Given the description of an element on the screen output the (x, y) to click on. 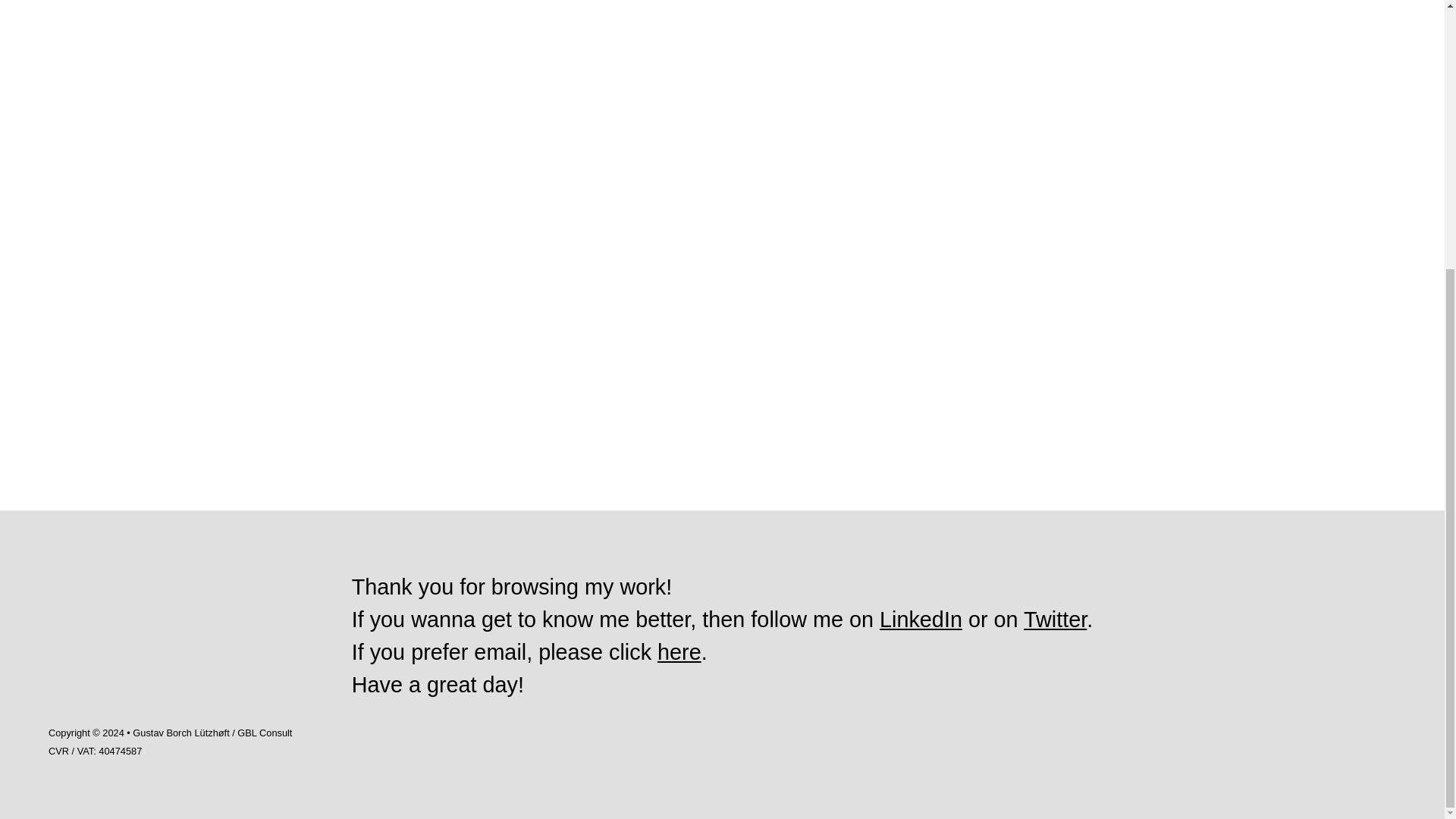
Twitter (1054, 619)
here (679, 651)
LinkedIn (920, 619)
